Given the description of an element on the screen output the (x, y) to click on. 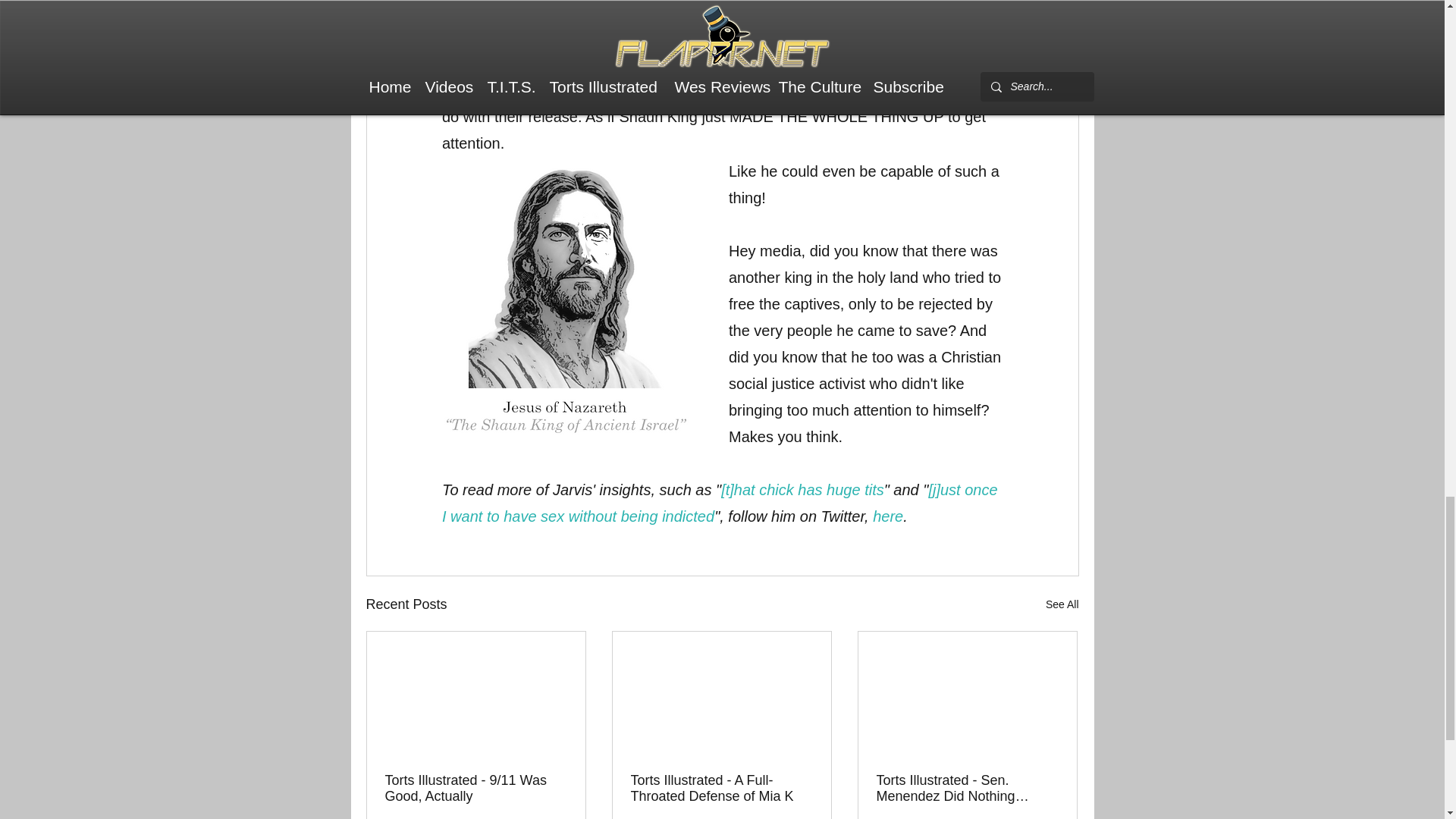
Torts Illustrated - A Full-Throated Defense of Mia K (721, 788)
hat chick has huge tits (808, 489)
here (887, 515)
See All (1061, 604)
Torts Illustrated - Sen. Menendez Did Nothing Wrong (967, 788)
